Given the description of an element on the screen output the (x, y) to click on. 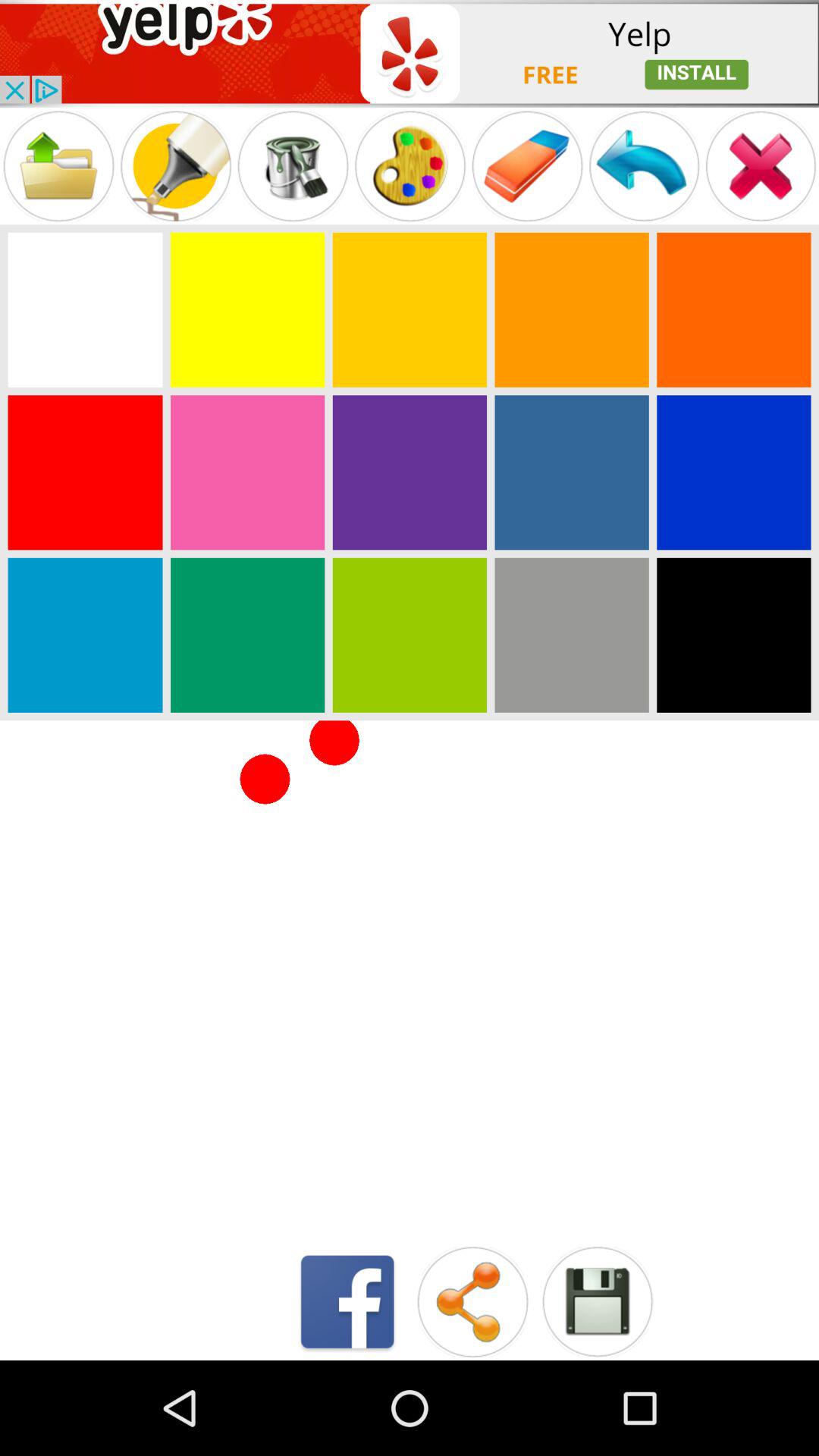
choose pink color (247, 472)
